Given the description of an element on the screen output the (x, y) to click on. 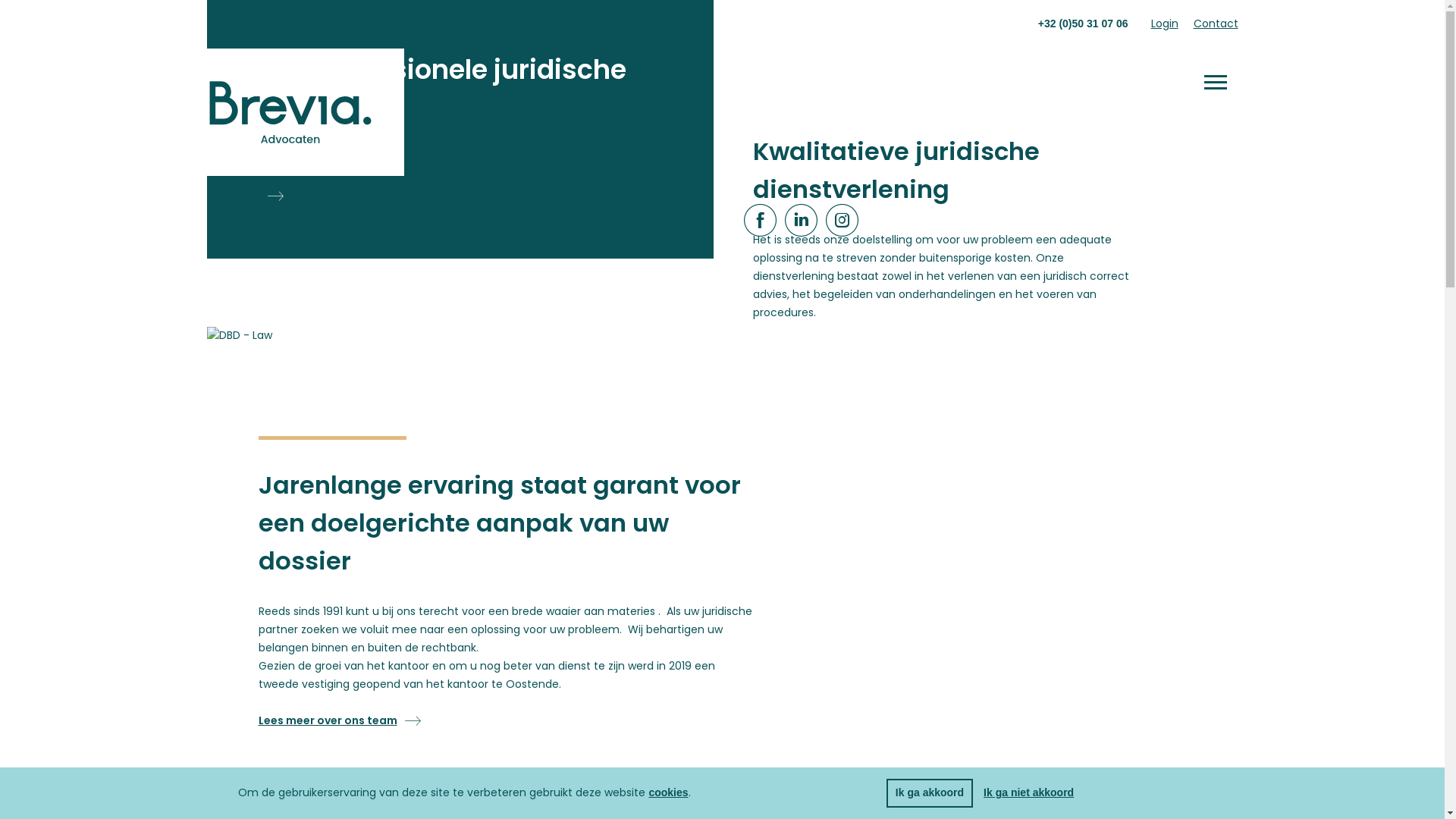
+32 (0)50 31 07 06 Element type: text (1083, 23)
Facebook Element type: hover (760, 221)
LinkedIN Element type: hover (801, 221)
Ik ga niet akkoord Element type: text (1028, 792)
Instagram Element type: hover (842, 221)
cookies Element type: text (667, 792)
Ik ga akkoord Element type: text (929, 792)
Login Element type: text (1164, 23)
Lees meer over ons team Element type: text (339, 720)
Contact Element type: text (1215, 23)
